Given the description of an element on the screen output the (x, y) to click on. 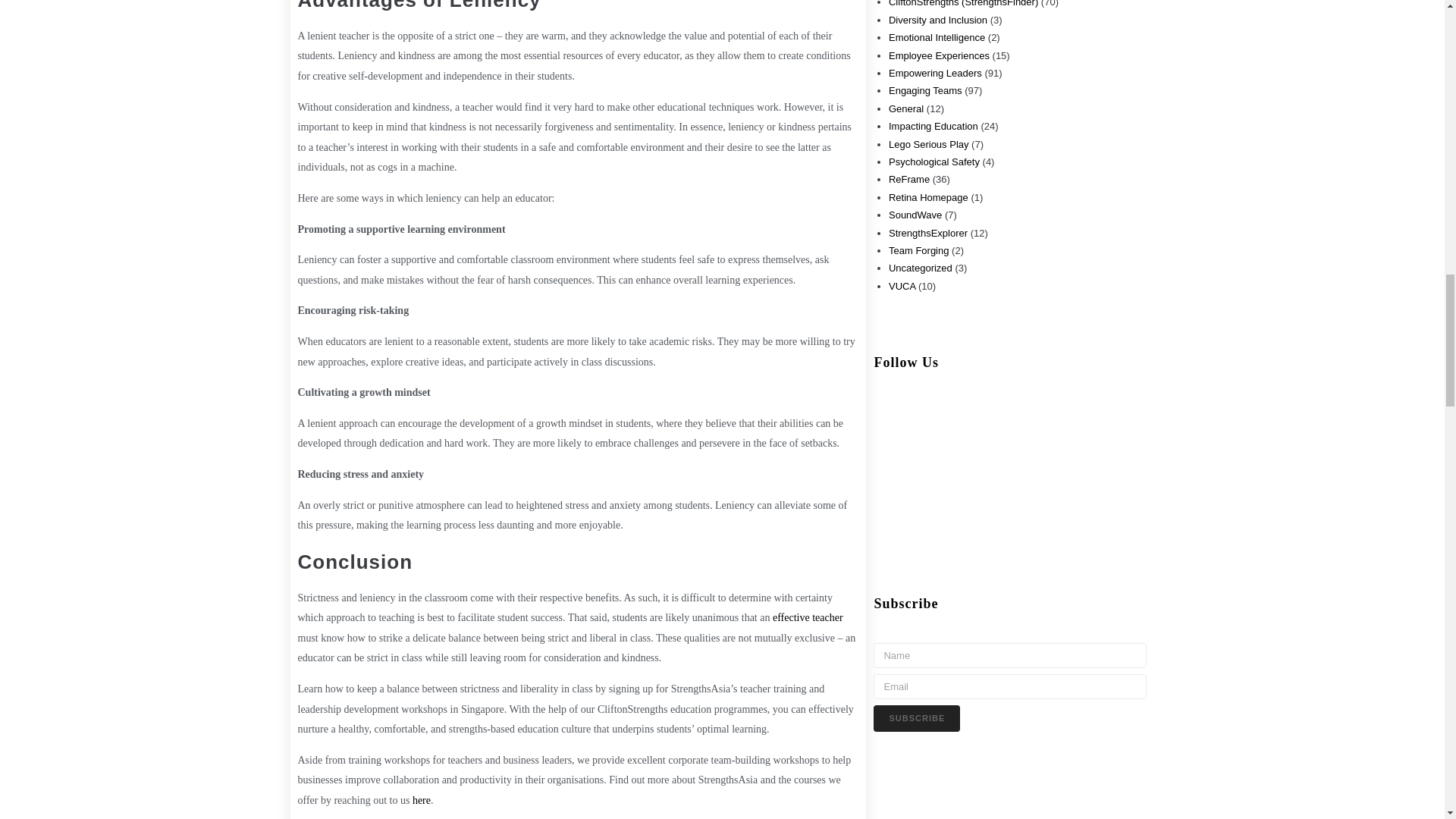
effective teacher (808, 617)
Subscribe (916, 718)
The 3 Must-Have Traits Of Highly Effective Teachers (808, 617)
here (421, 799)
